Given the description of an element on the screen output the (x, y) to click on. 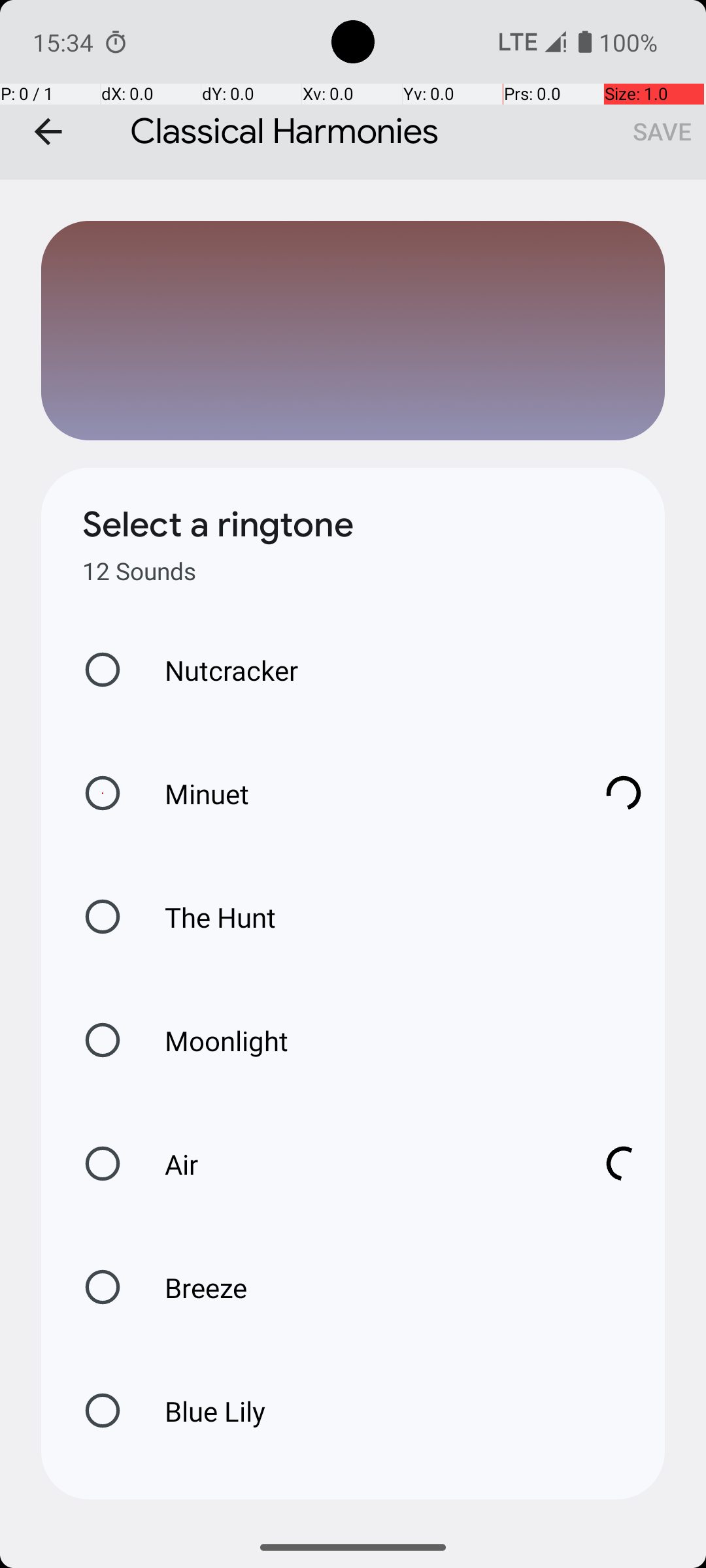
Classical Harmonies Element type: android.widget.FrameLayout (353, 89)
Select a ringtone Element type: android.widget.TextView (217, 524)
12 Sounds Element type: android.widget.TextView (139, 570)
Nutcracker Element type: android.widget.TextView (217, 669)
Minuet Element type: android.widget.TextView (359, 793)
Download in progress Element type: android.widget.ImageView (623, 792)
The Hunt Element type: android.widget.TextView (206, 916)
Moonlight Element type: android.widget.TextView (212, 1040)
Air Element type: android.widget.TextView (359, 1163)
Breeze Element type: android.widget.TextView (192, 1287)
Blue Lily Element type: android.widget.TextView (201, 1410)
